Given the description of an element on the screen output the (x, y) to click on. 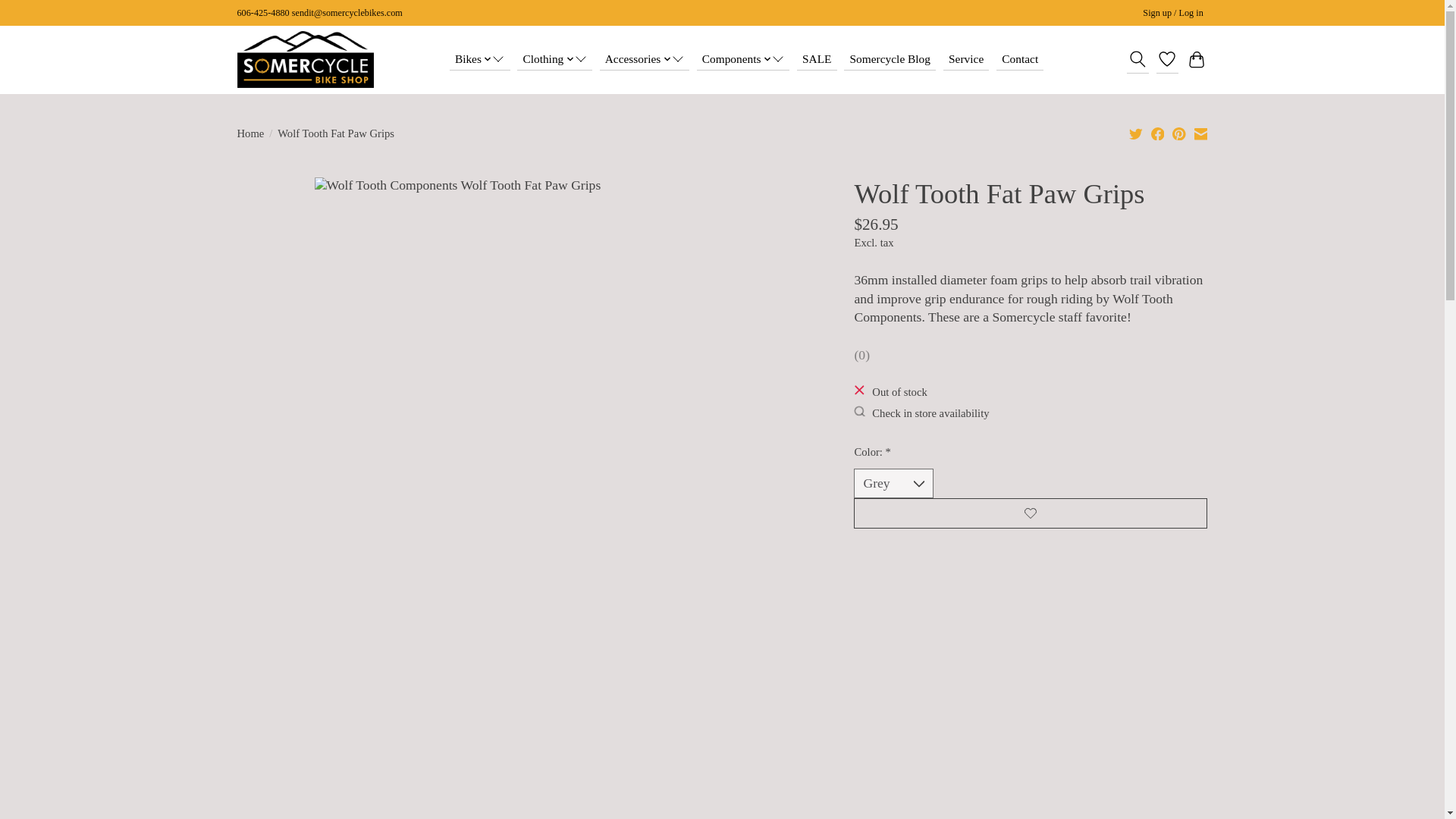
Share on Facebook (1157, 133)
Somercycle Bike Shop (303, 59)
Bikes (480, 58)
Share on Twitter (1135, 133)
Accessories (643, 58)
Share on Pinterest (1178, 133)
Clothing (554, 58)
Share by Email (1200, 133)
My account (1173, 13)
